Given the description of an element on the screen output the (x, y) to click on. 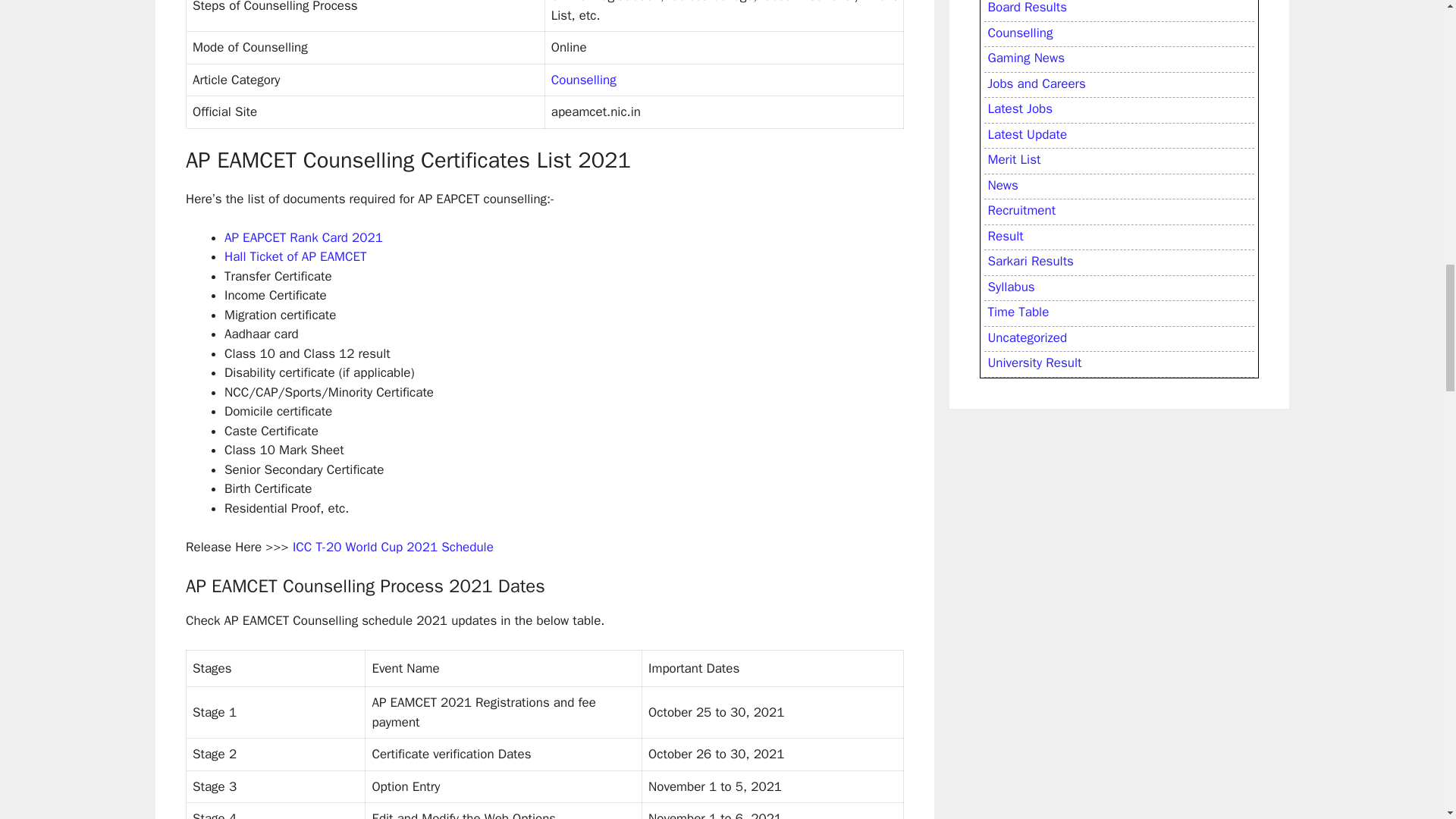
AP EAPCET Rank Card 2021 (303, 237)
ICC T-20 World Cup 2021 Schedule (392, 546)
Counselling (583, 78)
Hall Ticket of AP EAMCET (295, 256)
